Given the description of an element on the screen output the (x, y) to click on. 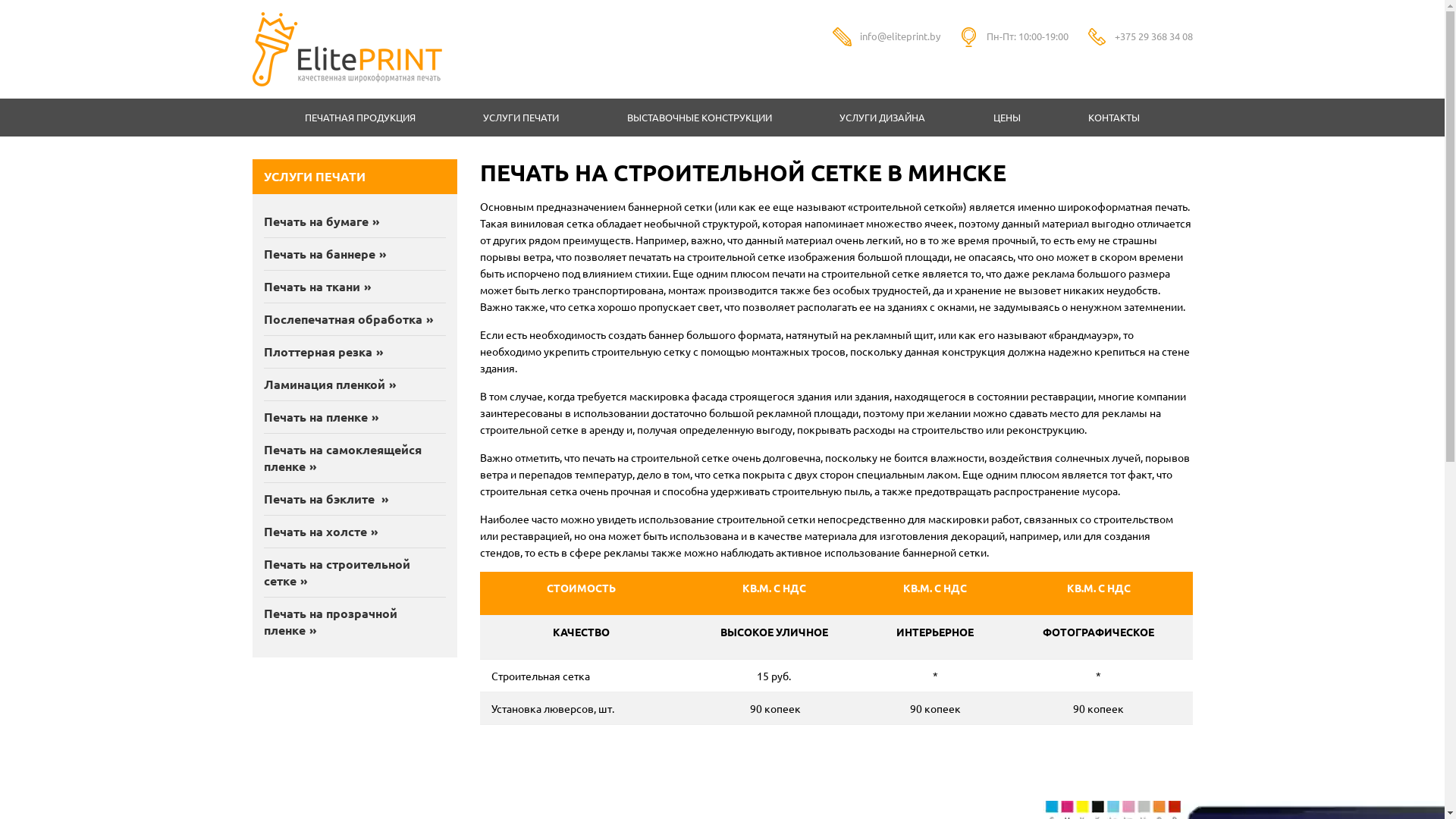
+375 29 368 34 08 Element type: text (1153, 35)
info@eliteprint.by Element type: text (899, 35)
